Given the description of an element on the screen output the (x, y) to click on. 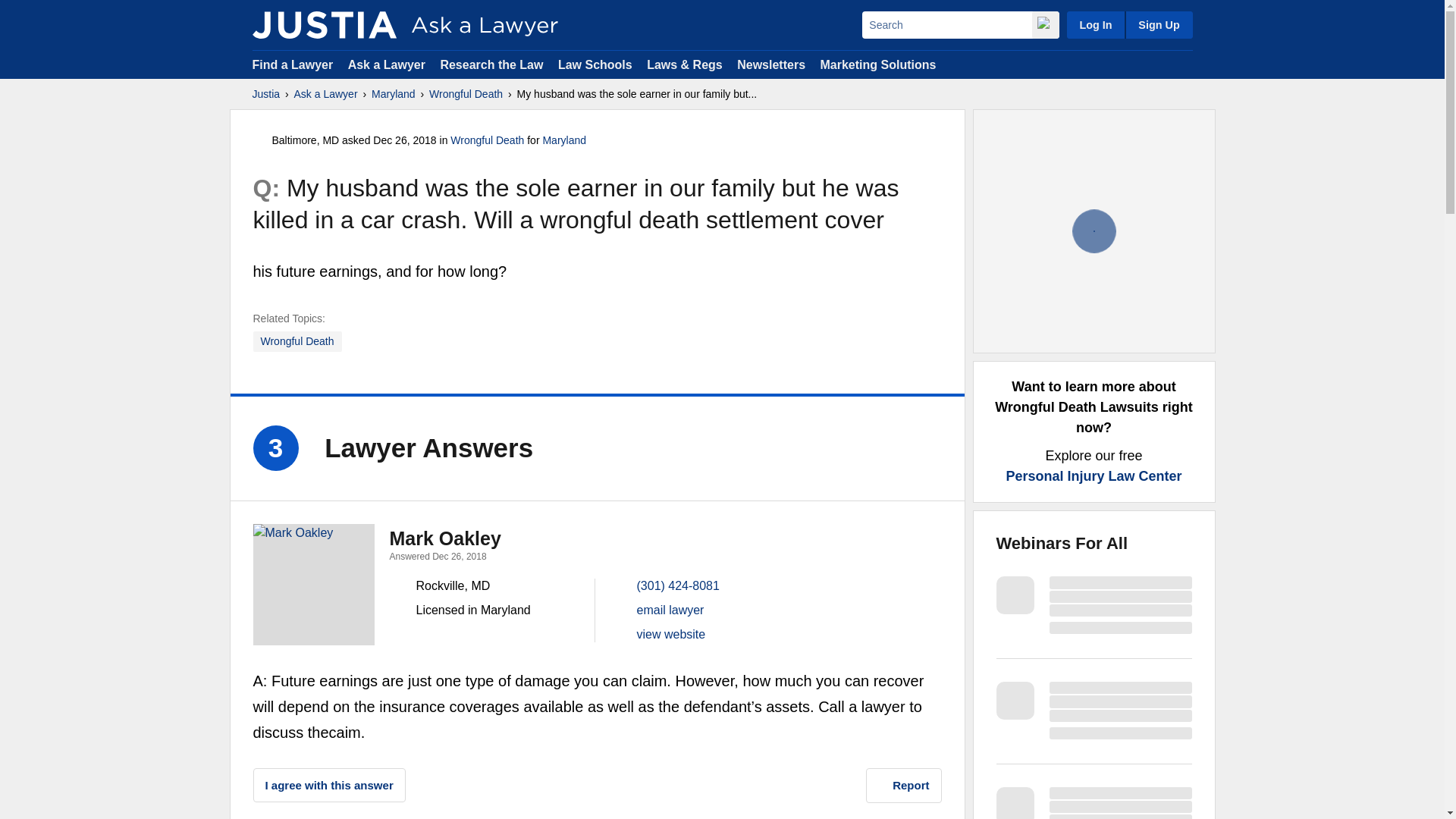
Search (945, 24)
Find a Lawyer (292, 64)
Justia (265, 93)
Wrongful Death (486, 140)
Maryland (392, 93)
Ask a Lawyer (388, 64)
I agree with this answer (329, 785)
Research the Law (491, 64)
view website (671, 634)
Justia (323, 24)
